Given the description of an element on the screen output the (x, y) to click on. 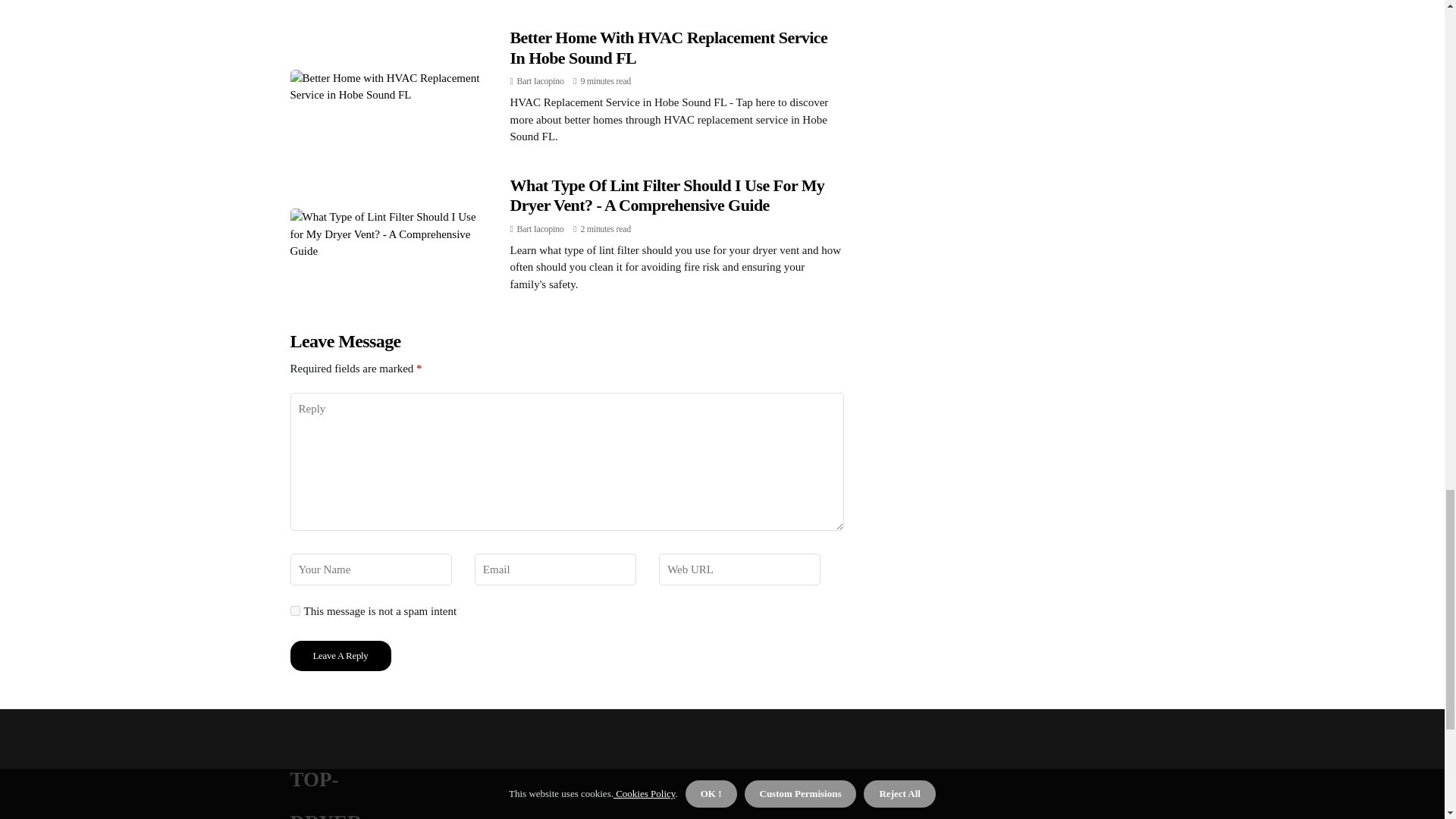
Posts by Bart Iacopino (540, 228)
Posts by Bart Iacopino (540, 81)
yes (294, 610)
Leave a Reply (339, 655)
Leave a Reply (339, 655)
Bart Iacopino (540, 228)
Bart Iacopino (540, 81)
Better Home With HVAC Replacement Service In Hobe Sound FL (668, 46)
